Given the description of an element on the screen output the (x, y) to click on. 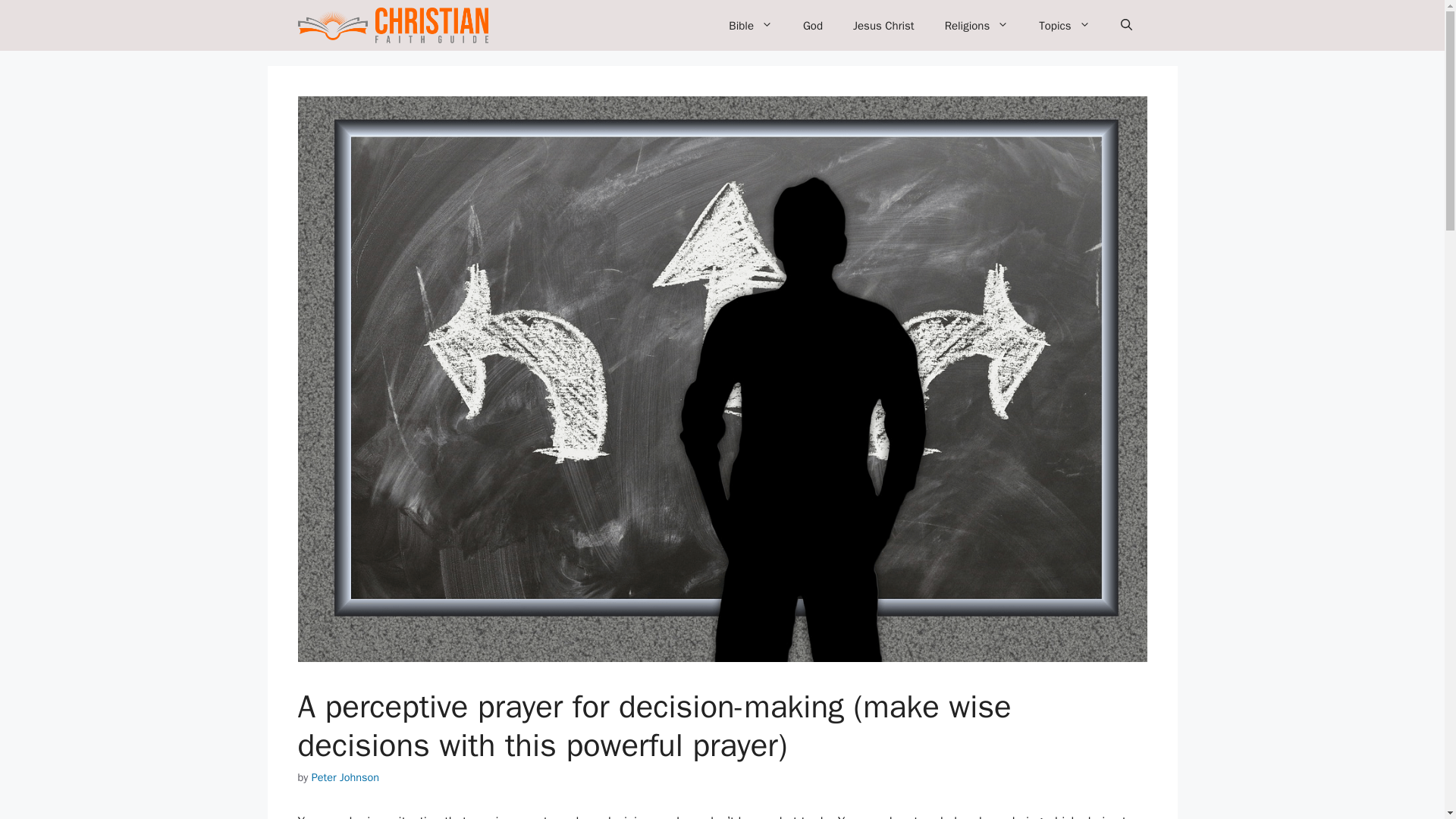
View all posts by Peter Johnson (344, 776)
Jesus Christ (884, 25)
Christian Faith Guide (392, 25)
Bible (750, 25)
Topics (1064, 25)
Religions (977, 25)
God (812, 25)
